Given the description of an element on the screen output the (x, y) to click on. 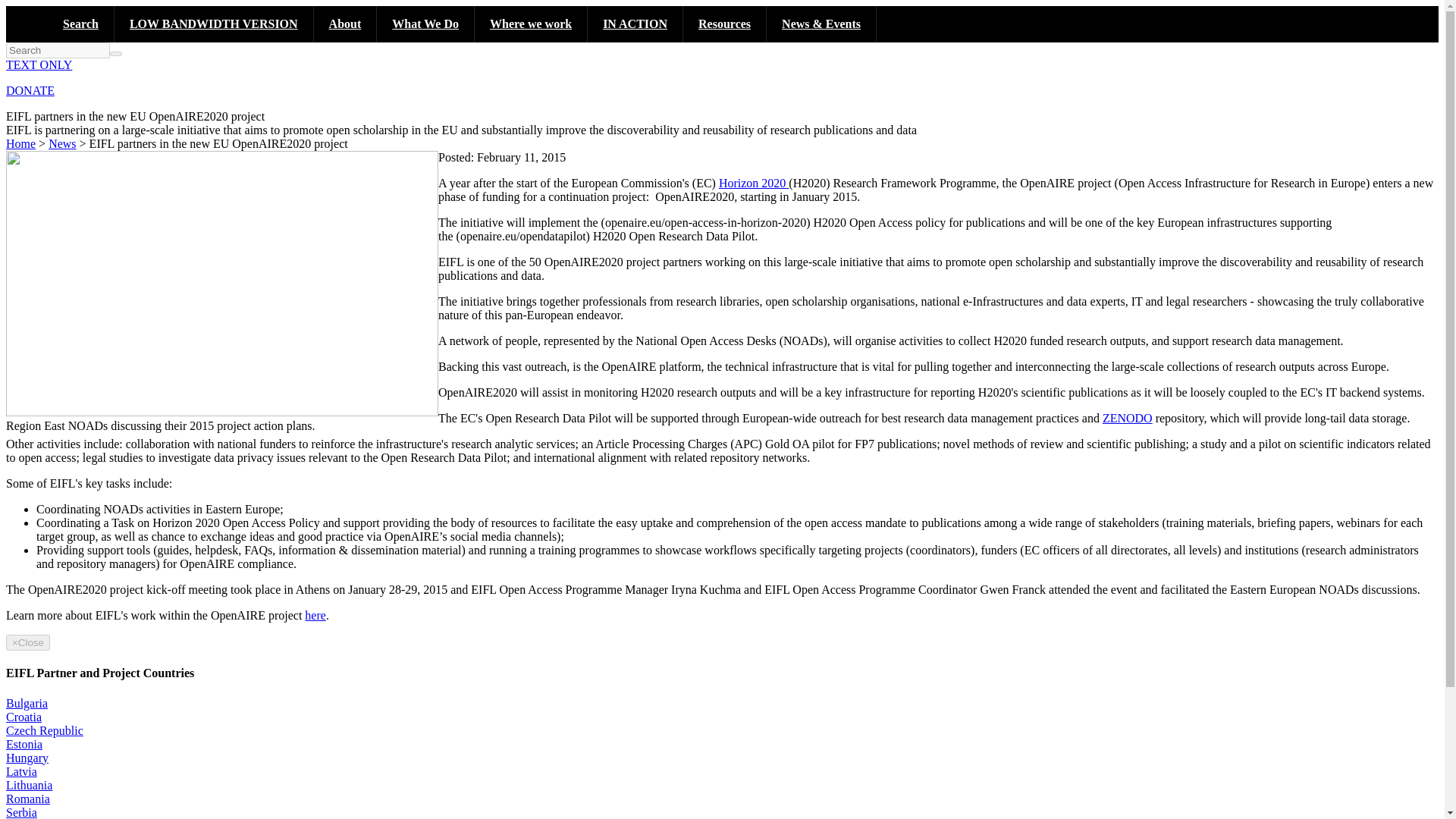
Search (81, 94)
LOW BANDWIDTH VERSION (214, 23)
What We Do (425, 23)
LOW BANDWIDTH VERSION (214, 23)
Search (81, 23)
About (345, 23)
Home (26, 12)
